Given the description of an element on the screen output the (x, y) to click on. 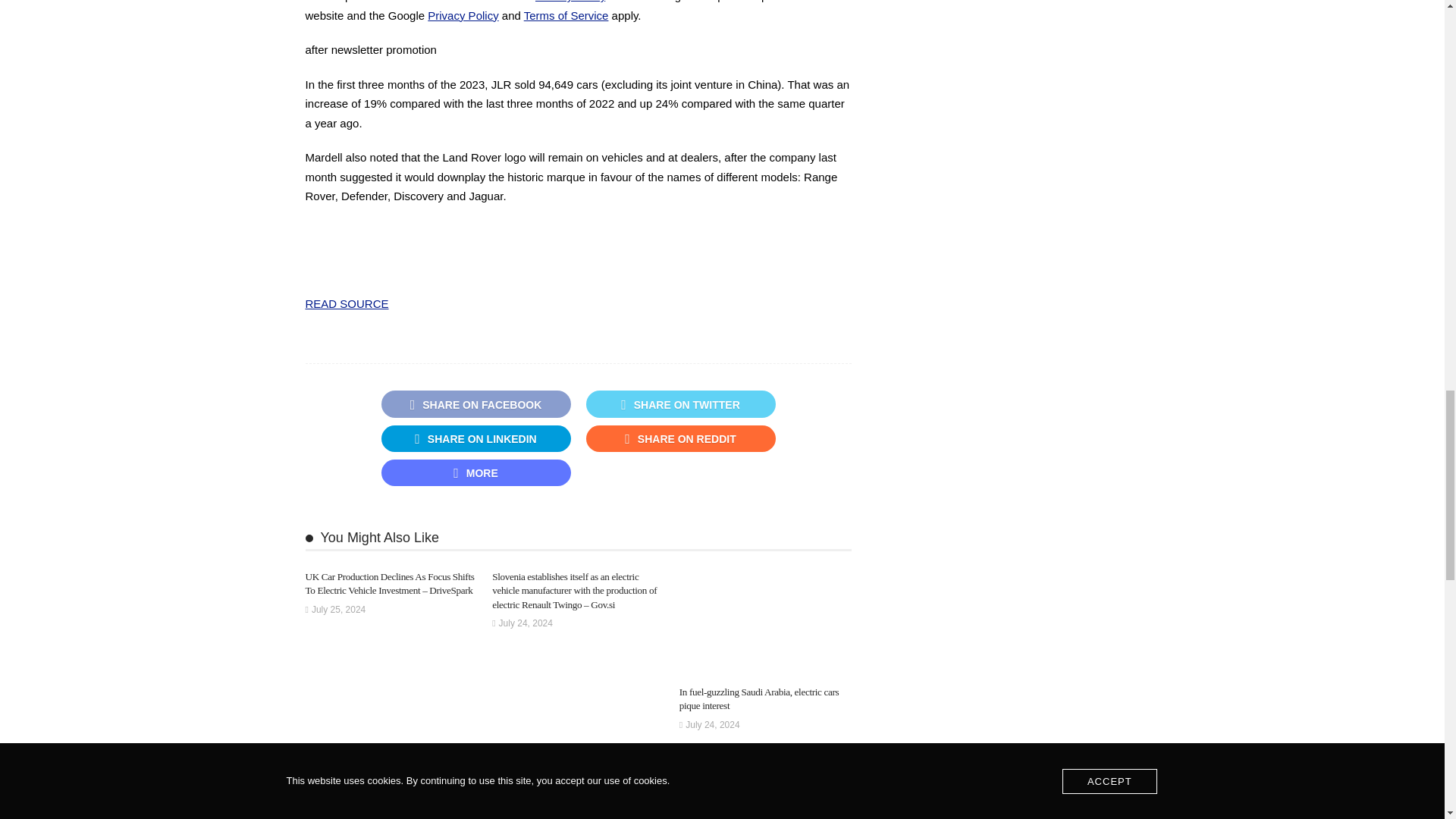
In fuel-guzzling Saudi Arabia, electric cars pique interest (758, 698)
